Given the description of an element on the screen output the (x, y) to click on. 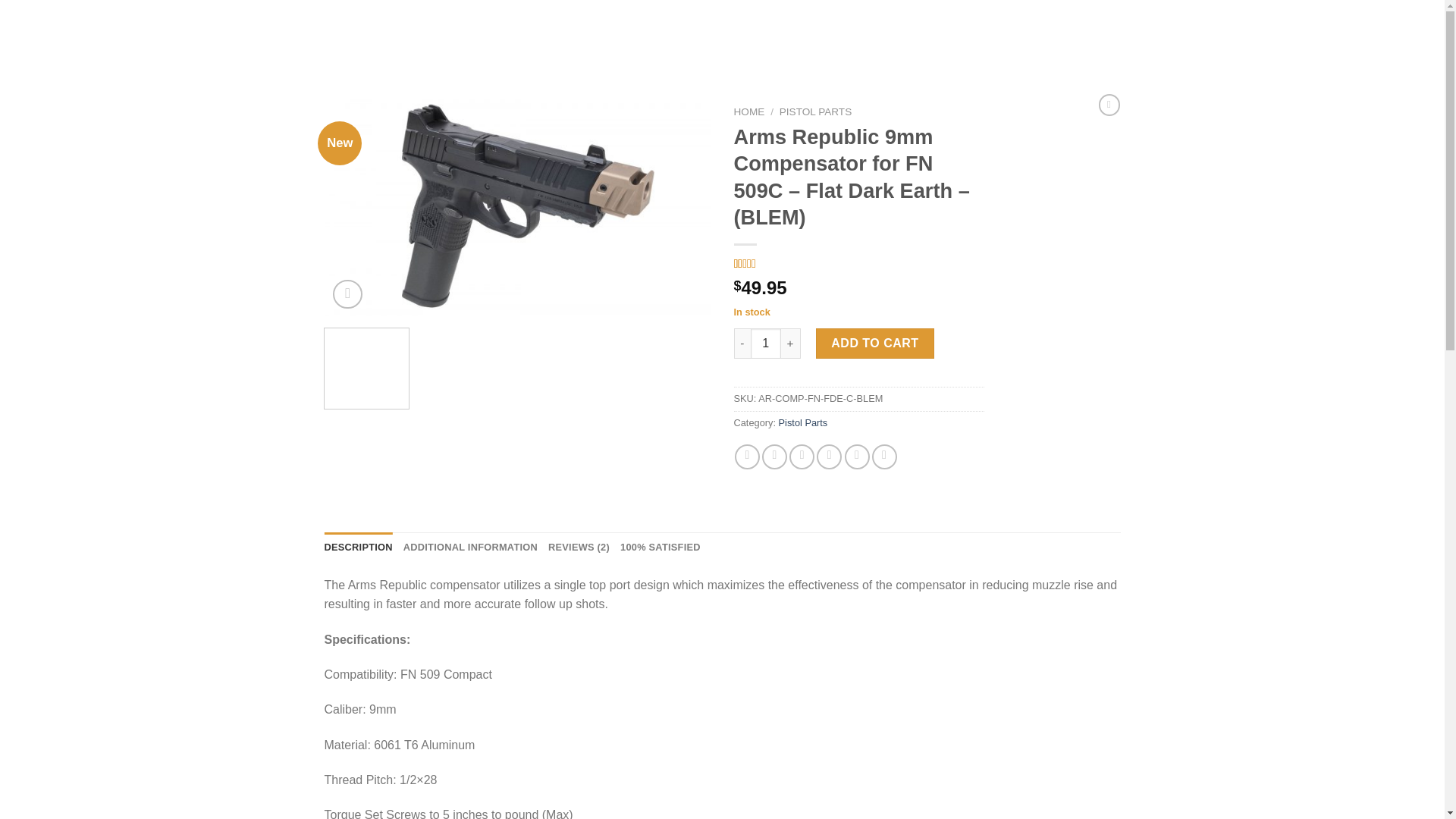
BLOG (200, 33)
ABOUT (242, 33)
Zoom (347, 293)
ON SALE (390, 33)
Share on Twitter (774, 456)
Share on LinkedIn (856, 456)
Cart (1387, 34)
CONTACT (294, 33)
Pin on Pinterest (828, 456)
Share on Facebook (747, 456)
